Given the description of an element on the screen output the (x, y) to click on. 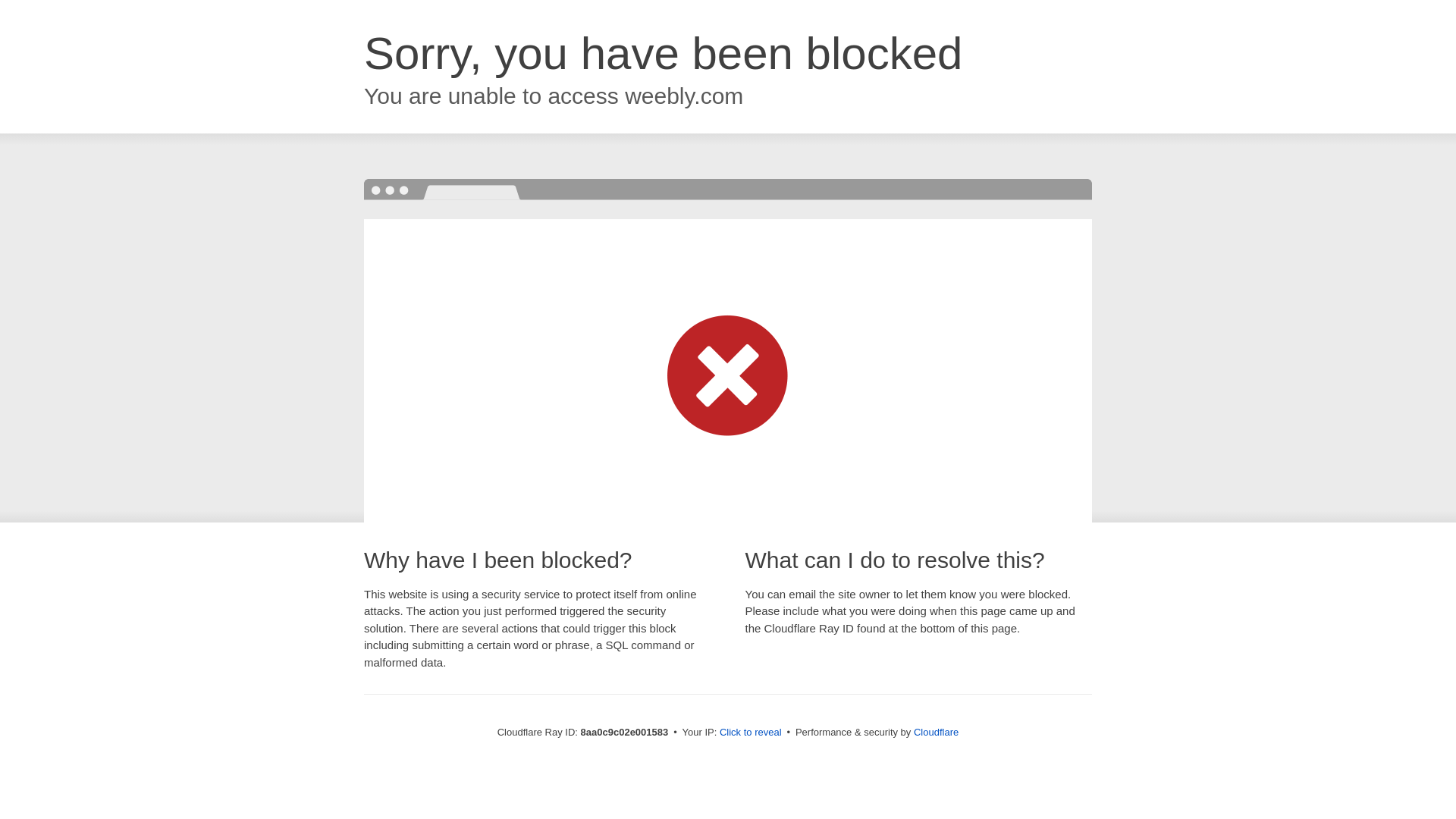
Click to reveal (750, 732)
Cloudflare (936, 731)
